Given the description of an element on the screen output the (x, y) to click on. 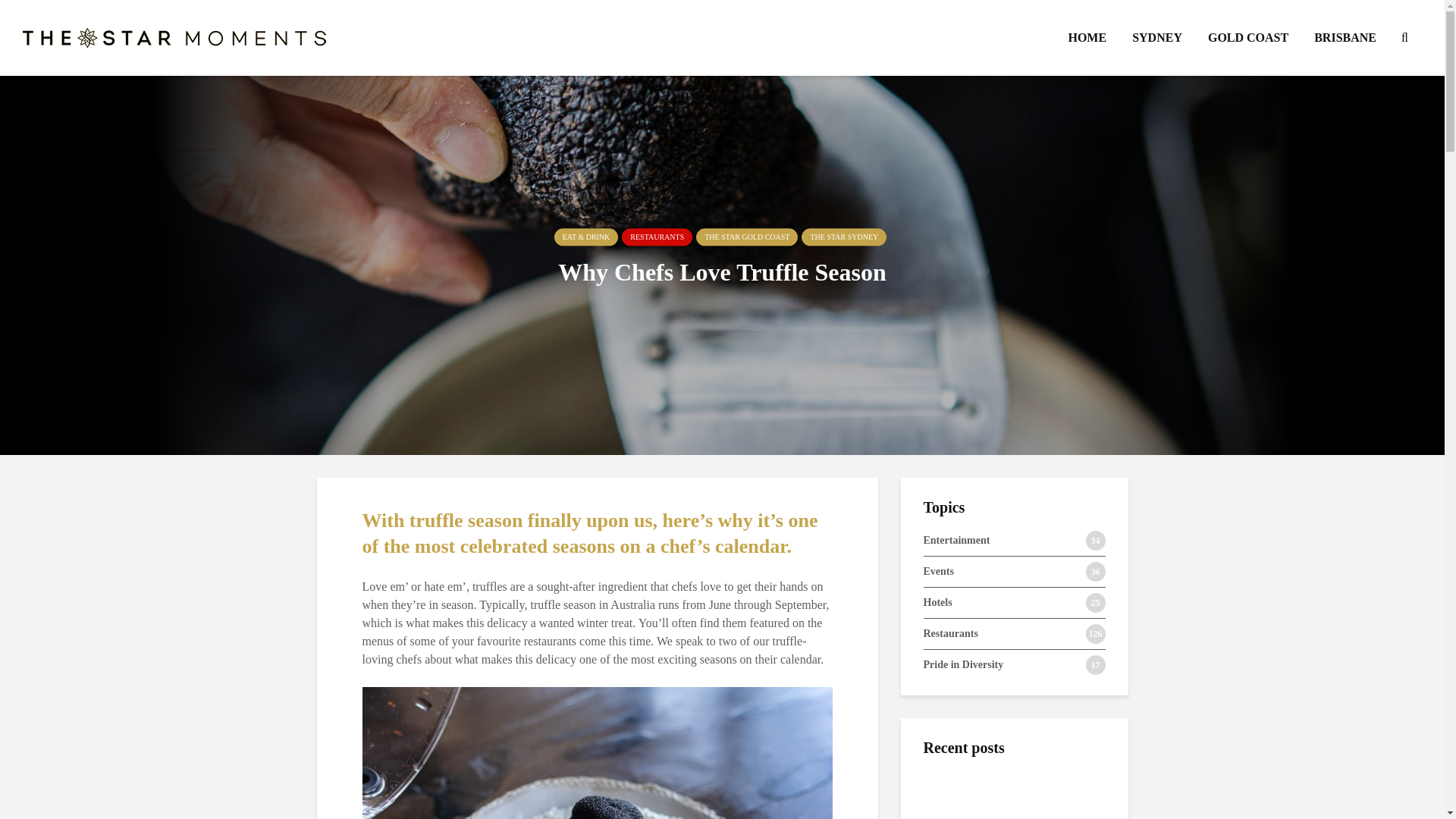
RESTAURANTS (657, 236)
BRISBANE (1345, 37)
THE STAR GOLD COAST (746, 236)
GOLD COAST (1248, 37)
HOME (1087, 37)
SYDNEY (1157, 37)
THE STAR SYDNEY (844, 236)
